Given the description of an element on the screen output the (x, y) to click on. 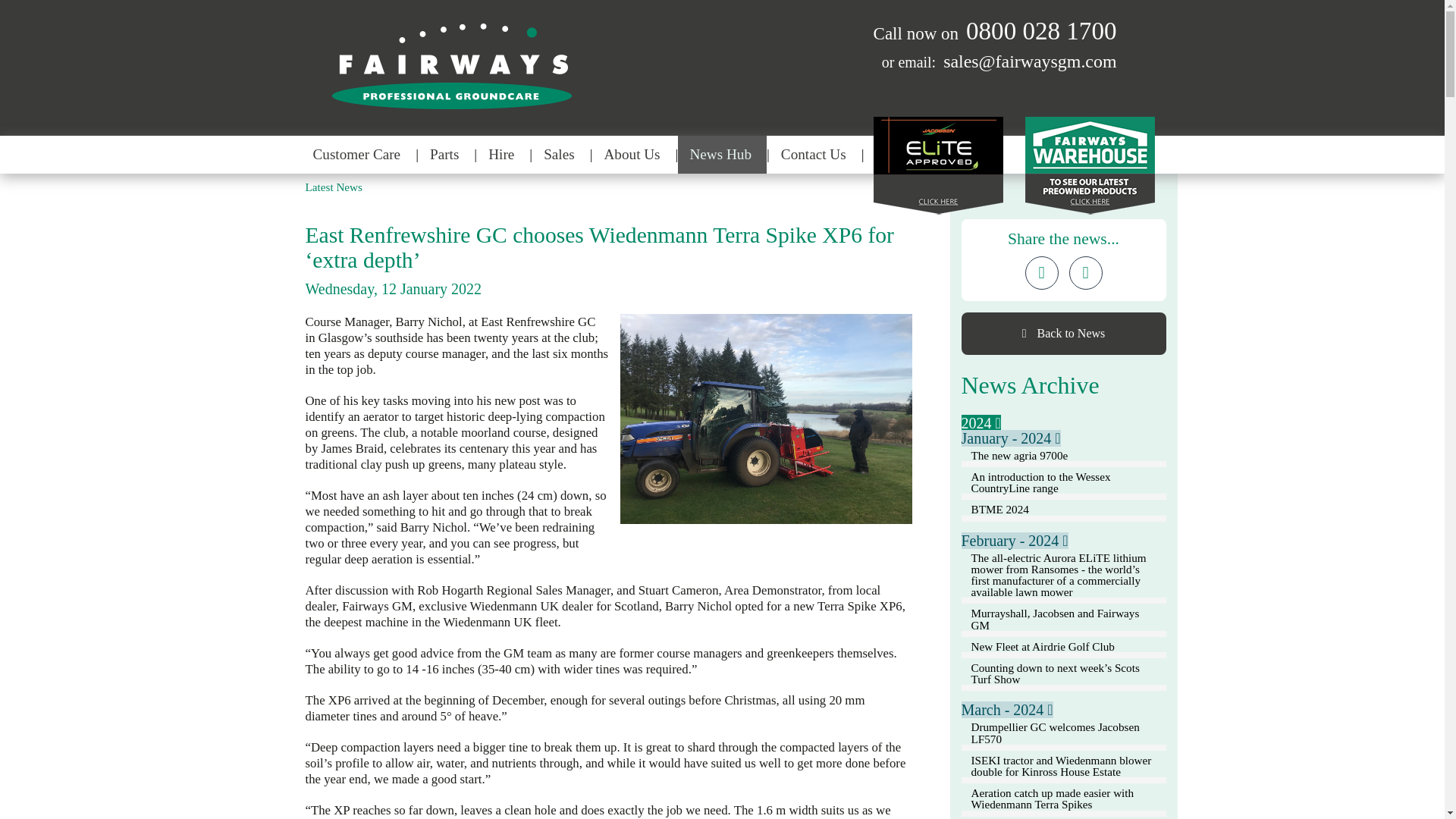
Parts (446, 154)
Hire (503, 154)
Sales (560, 154)
Latest News (333, 186)
News Hub (722, 154)
About Us (633, 154)
Contact Us (815, 154)
Customer Care (358, 154)
